Given the description of an element on the screen output the (x, y) to click on. 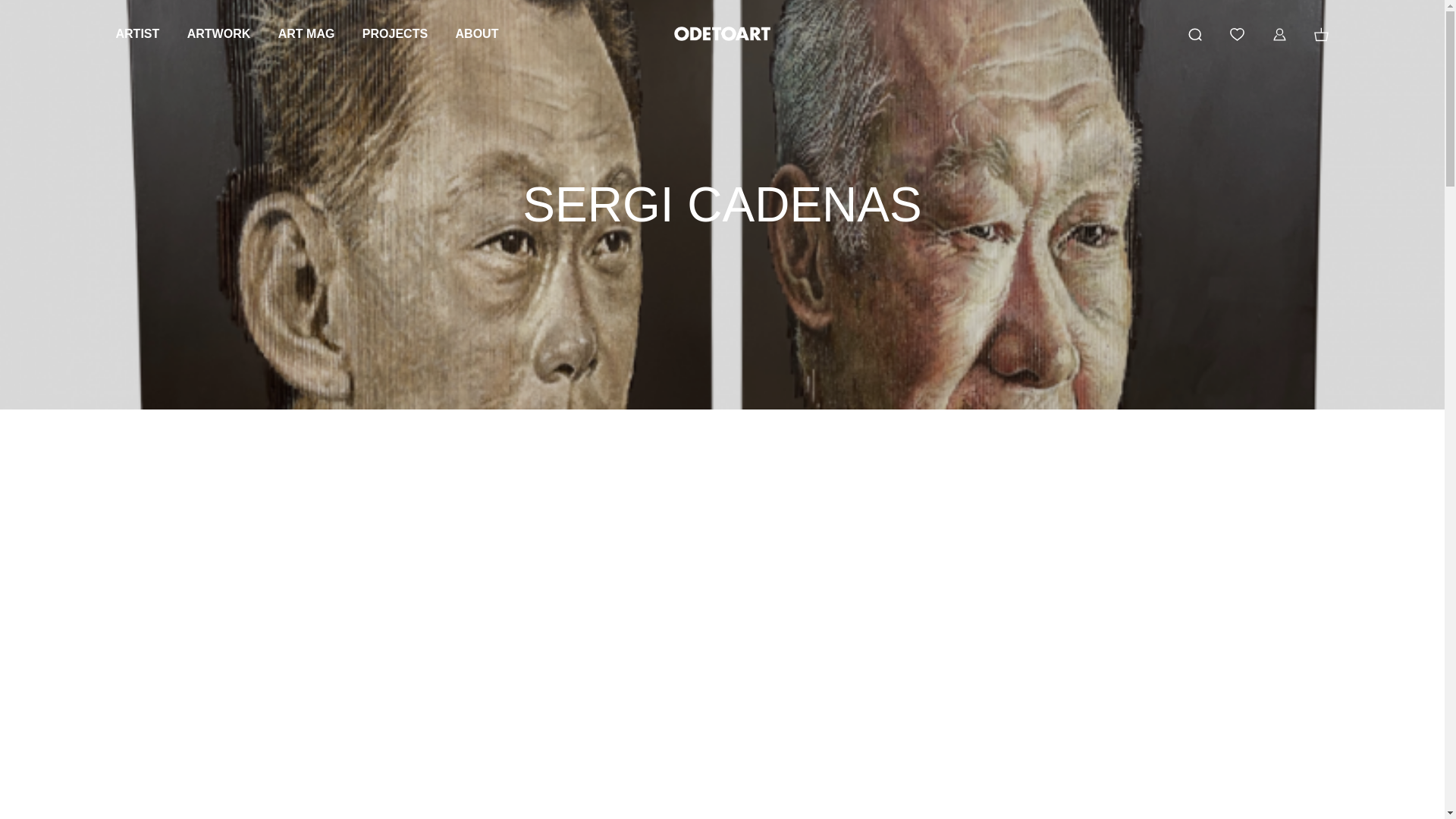
ARTIST (136, 33)
ABOUT (477, 33)
PROJECTS (395, 33)
ART MAG (306, 33)
ARTWORK (218, 33)
